Given the description of an element on the screen output the (x, y) to click on. 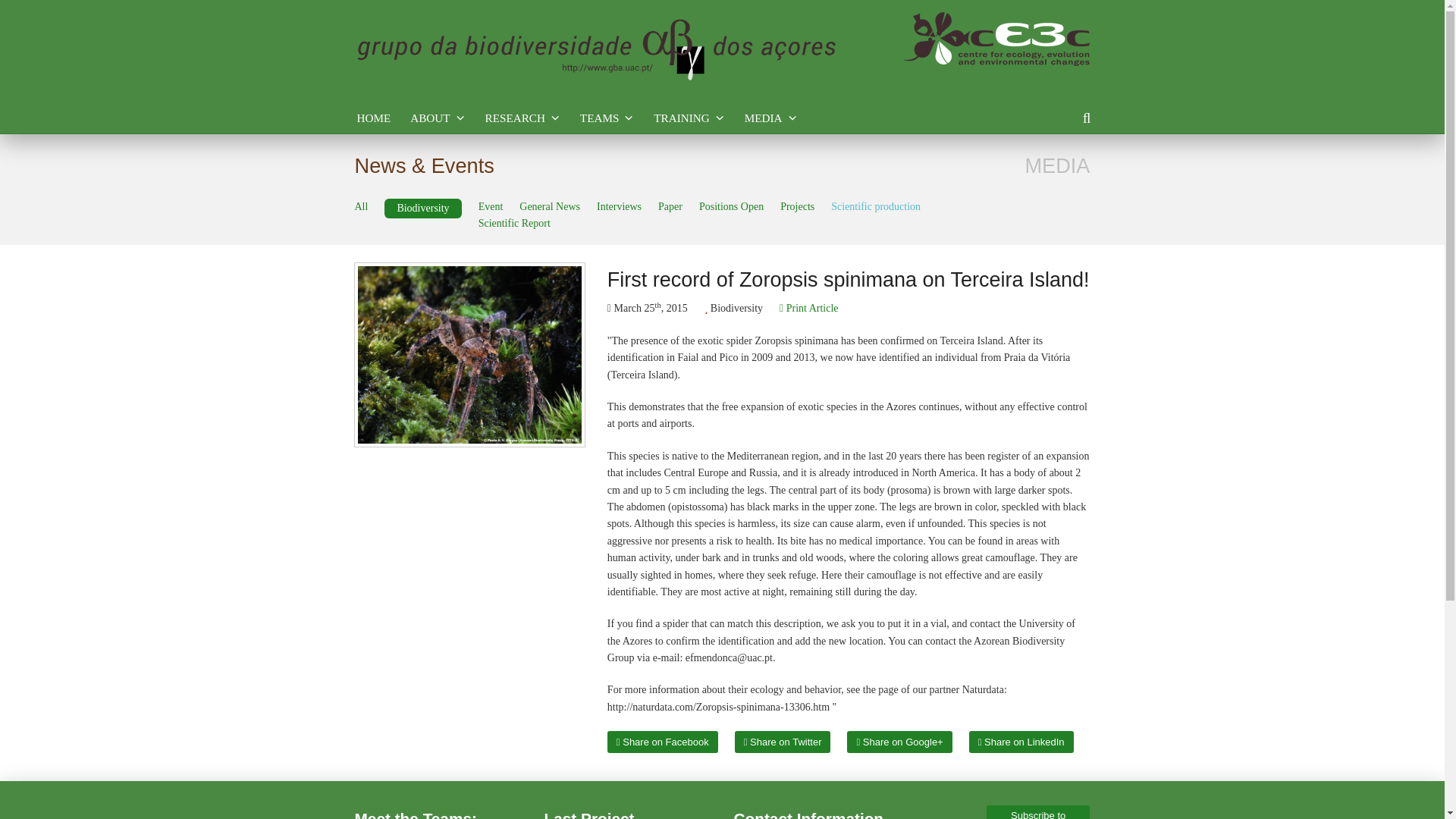
General News (549, 207)
Paper (670, 207)
TRAINING (688, 118)
HOME (373, 118)
Interviews (619, 207)
First record of Zoropsis spinimana on Terceira Island! (470, 354)
TEAMS (606, 118)
ABOUT (437, 118)
Event (491, 207)
Positions Open (730, 207)
